Given the description of an element on the screen output the (x, y) to click on. 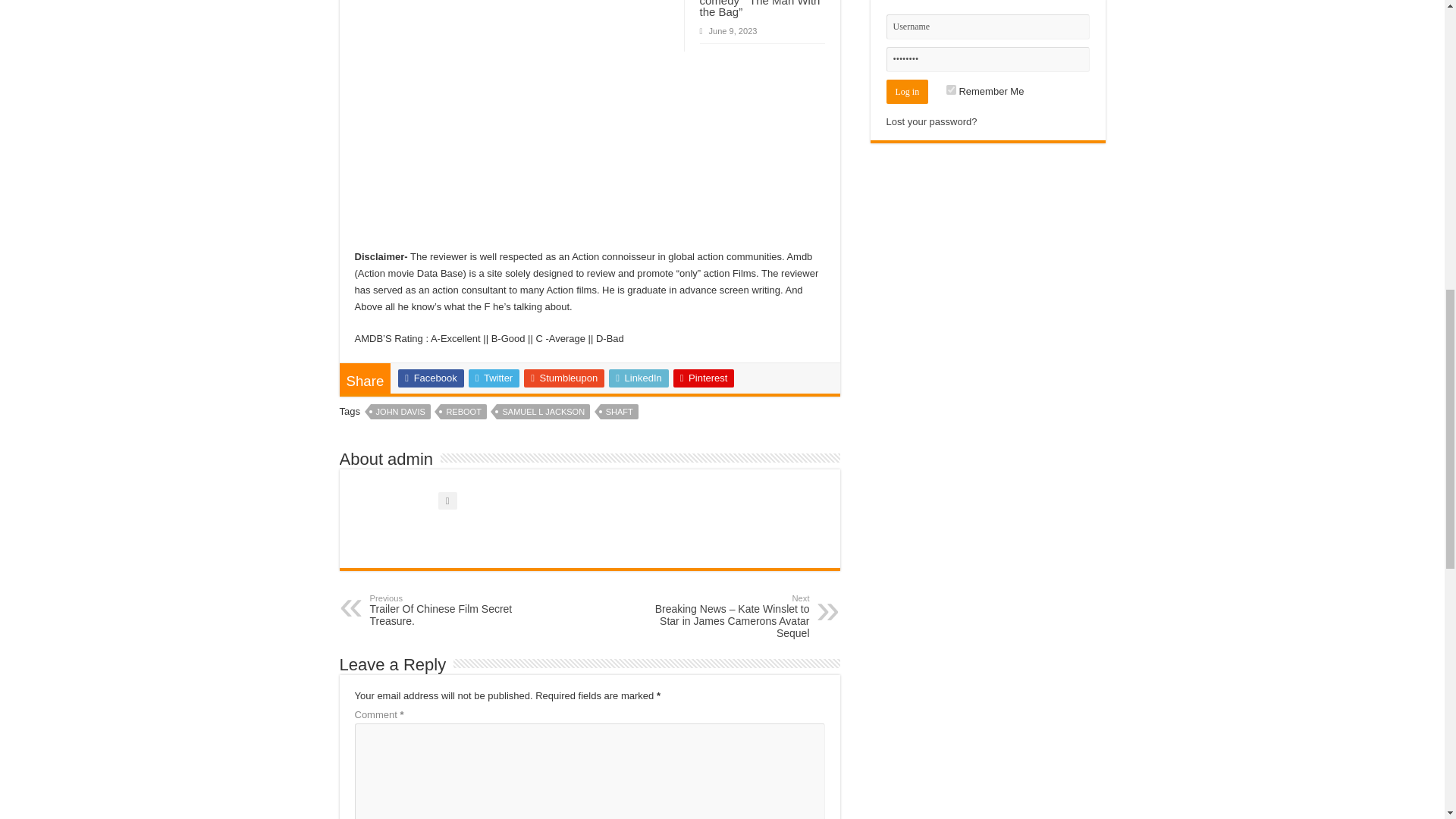
Username (987, 26)
Password (987, 59)
forever (951, 90)
Log in (906, 91)
